Given the description of an element on the screen output the (x, y) to click on. 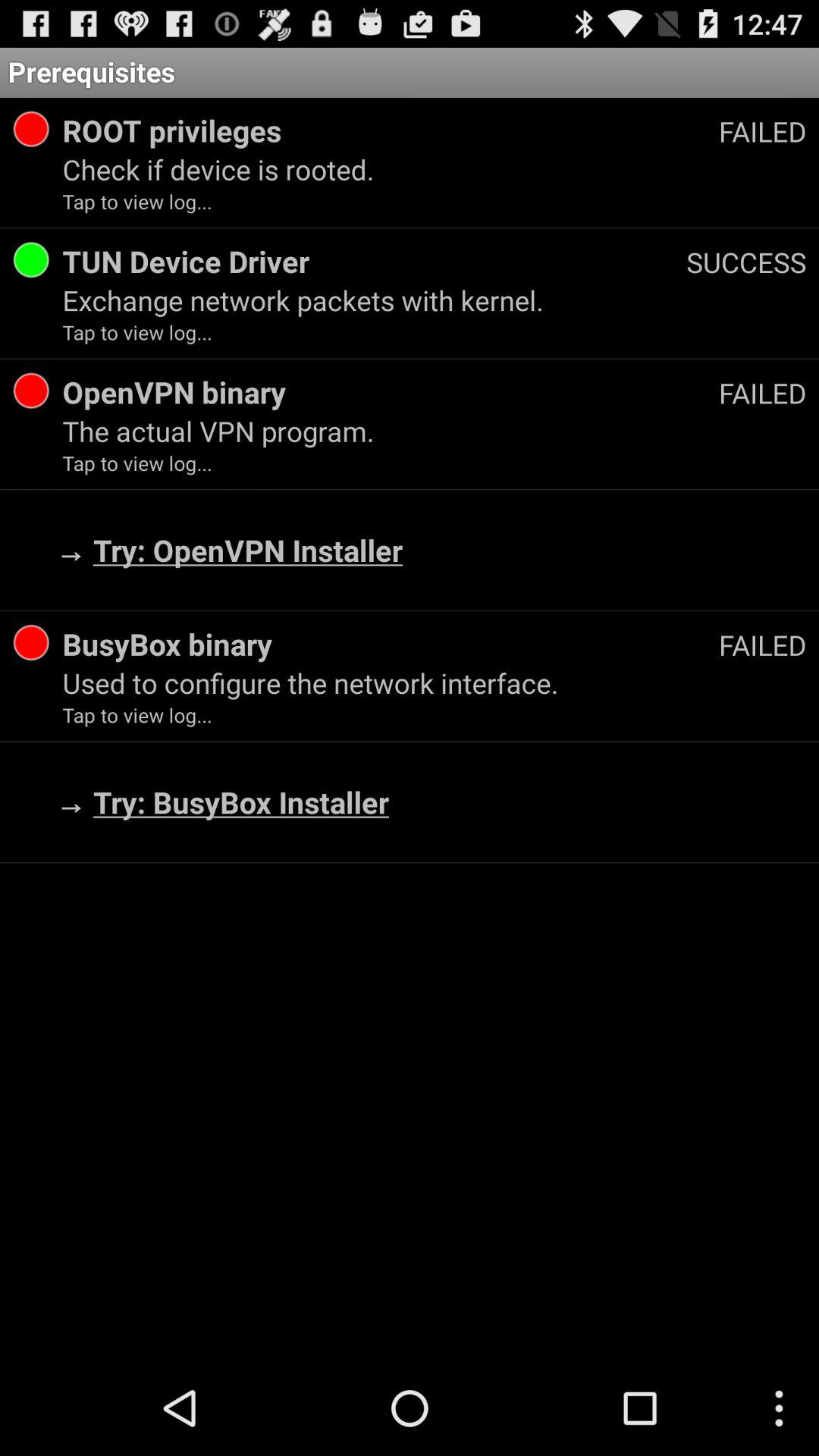
swipe to the success (746, 261)
